Given the description of an element on the screen output the (x, y) to click on. 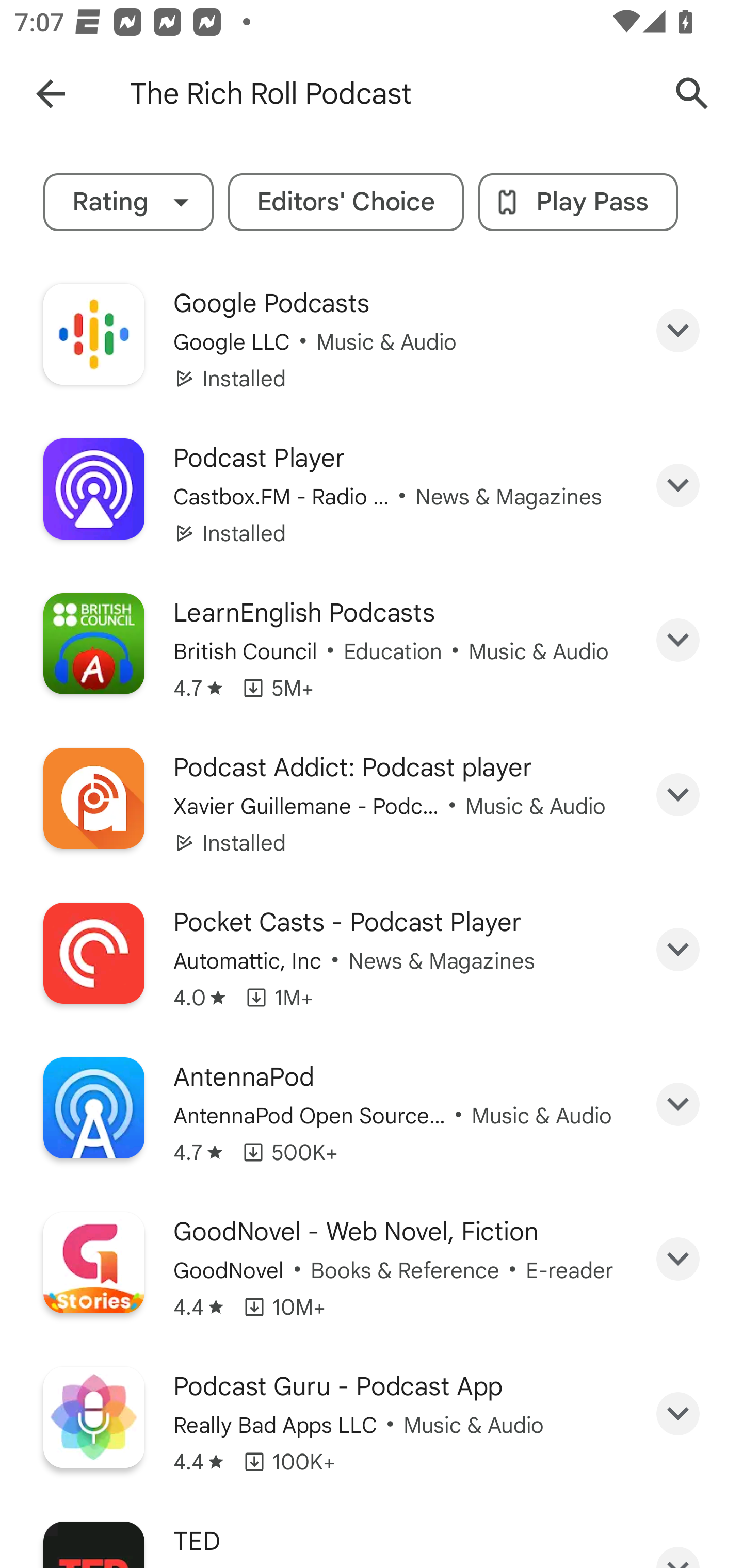
The Rich Roll Podcast (389, 93)
Navigate up (50, 93)
Search Google Play (692, 93)
Rating - double tap to change the filter (128, 202)
Editors' Choice - double tap to toggle the filter (345, 202)
Play Pass - double tap to toggle the filter (577, 202)
Expand content for Google Podcasts (677, 329)
Expand content for Podcast Player (677, 485)
Expand content for LearnEnglish Podcasts (677, 640)
Expand content for Podcast Addict: Podcast player (677, 794)
Expand content for Pocket Casts - Podcast Player (677, 949)
Expand content for AntennaPod (677, 1104)
Expand content for GoodNovel - Web Novel, Fiction (677, 1259)
Expand content for Podcast Guru - Podcast App (677, 1413)
